Given the description of an element on the screen output the (x, y) to click on. 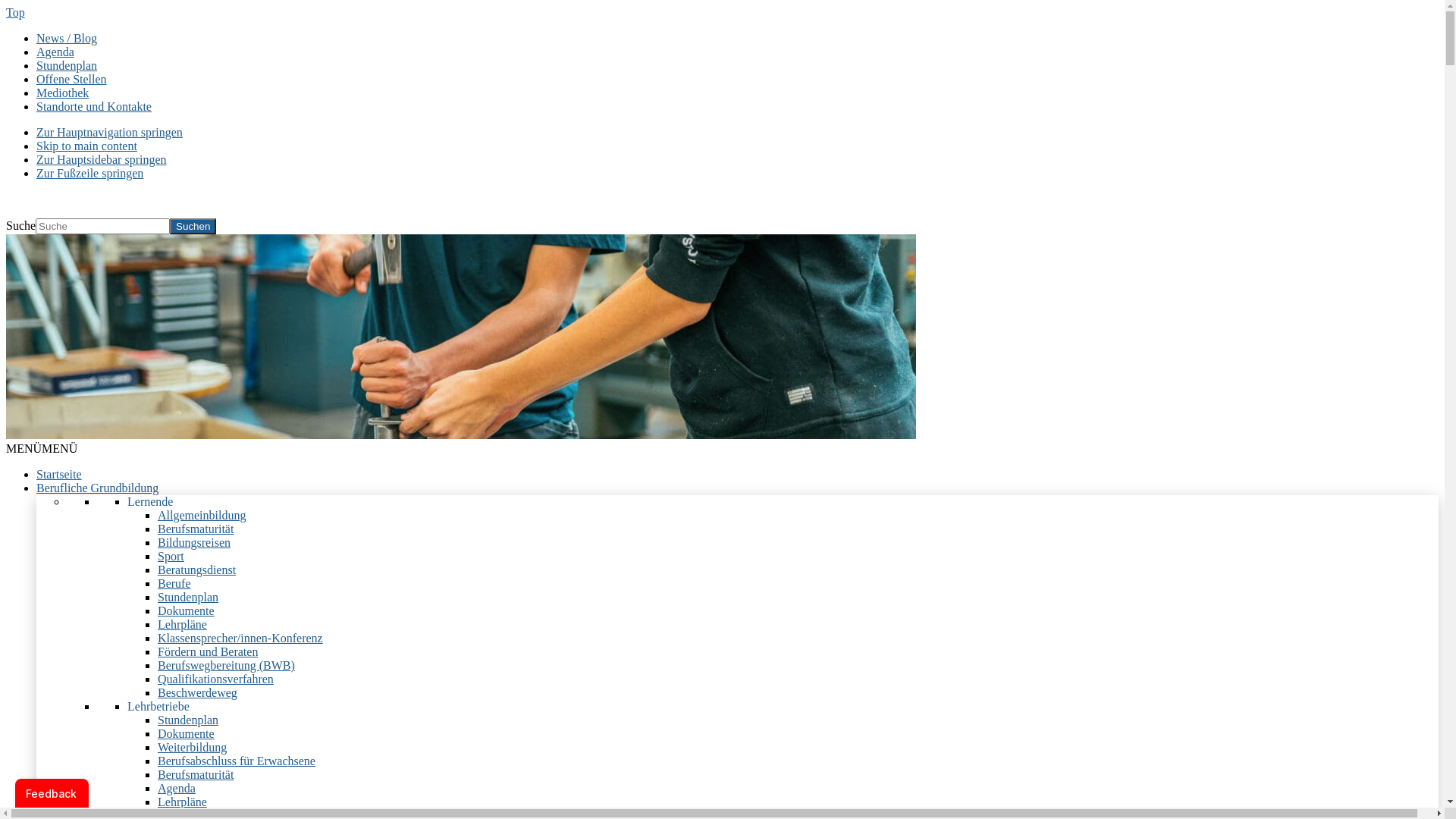
Klassensprecher/innen-Konferenz Element type: text (240, 637)
Bildungsreisen Element type: text (193, 542)
Offene Stellen Element type: text (71, 78)
Agenda Element type: text (55, 51)
Allgemeinbildung Element type: text (201, 514)
Beschwerdeweg Element type: text (197, 692)
Skip to main content Element type: text (86, 145)
Mediothek Element type: text (62, 92)
Zur Hauptnavigation springen Element type: text (109, 131)
Top Element type: text (15, 12)
Beratungsdienst Element type: text (196, 569)
BBZ BL Element type: text (27, 198)
Weiterbildung Element type: text (191, 746)
Zur Hauptsidebar springen Element type: text (101, 159)
Stundenplan Element type: text (66, 65)
Dokumente Element type: text (185, 610)
Startseite Element type: text (58, 473)
Qualifikationsverfahren Element type: text (215, 678)
News / Blog Element type: text (66, 37)
Standorte und Kontakte Element type: text (93, 106)
Lehrbetriebe Element type: text (158, 705)
Berufe Element type: text (174, 583)
Stundenplan Element type: text (187, 719)
Berufliche Grundbildung Element type: text (97, 487)
Lernende Element type: text (149, 501)
Stundenplan Element type: text (187, 596)
Dokumente Element type: text (185, 733)
Suchen Element type: text (192, 226)
Sport Element type: text (170, 555)
Agenda Element type: text (176, 787)
Berufswegbereitung (BWB) Element type: text (225, 664)
